Given the description of an element on the screen output the (x, y) to click on. 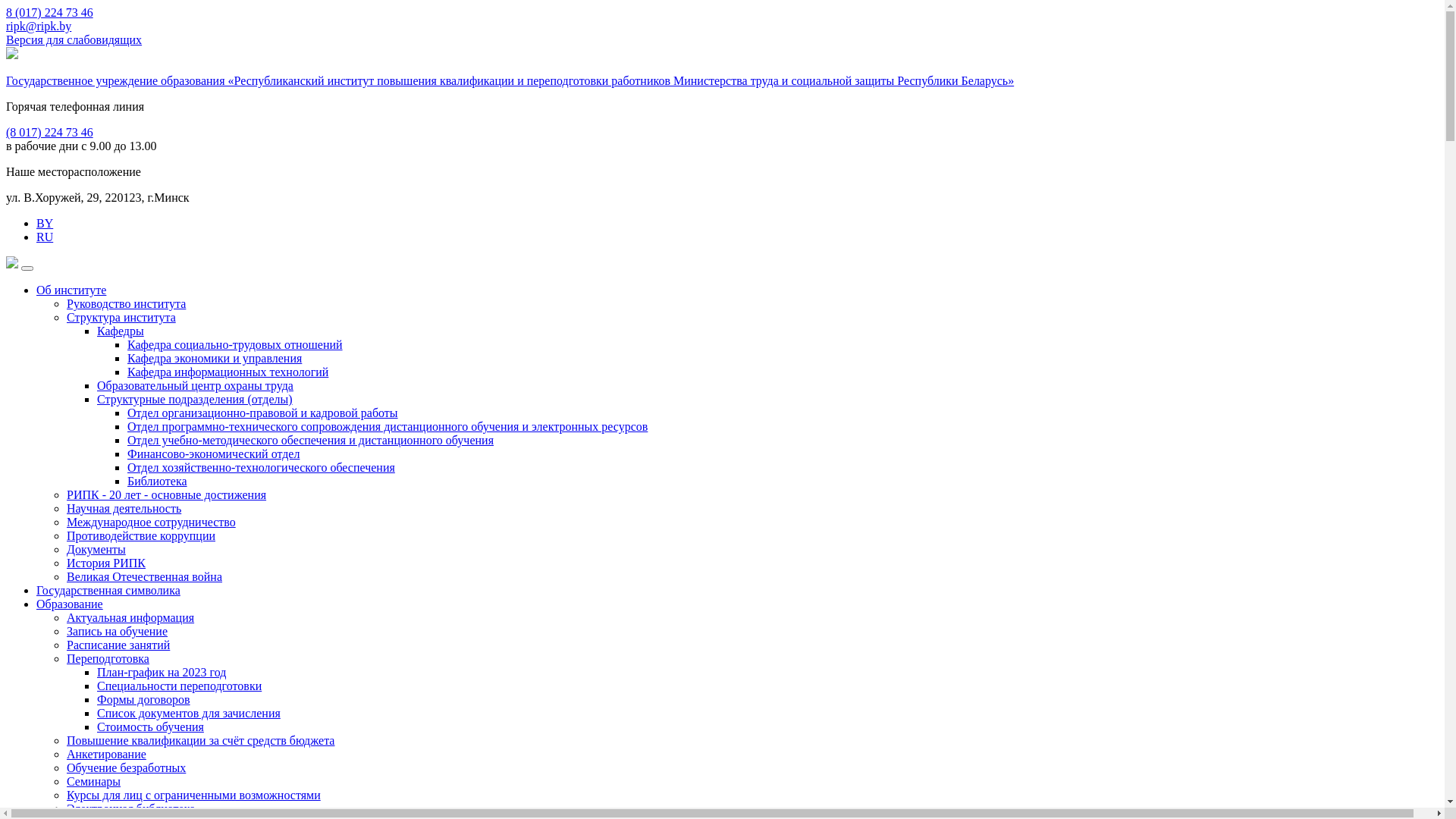
8 (017) 224 73 46 Element type: text (49, 12)
ripk@ripk.by Element type: text (38, 25)
RU Element type: text (44, 236)
(8 017) 224 73 46 Element type: text (49, 131)
BY Element type: text (44, 222)
